Given the description of an element on the screen output the (x, y) to click on. 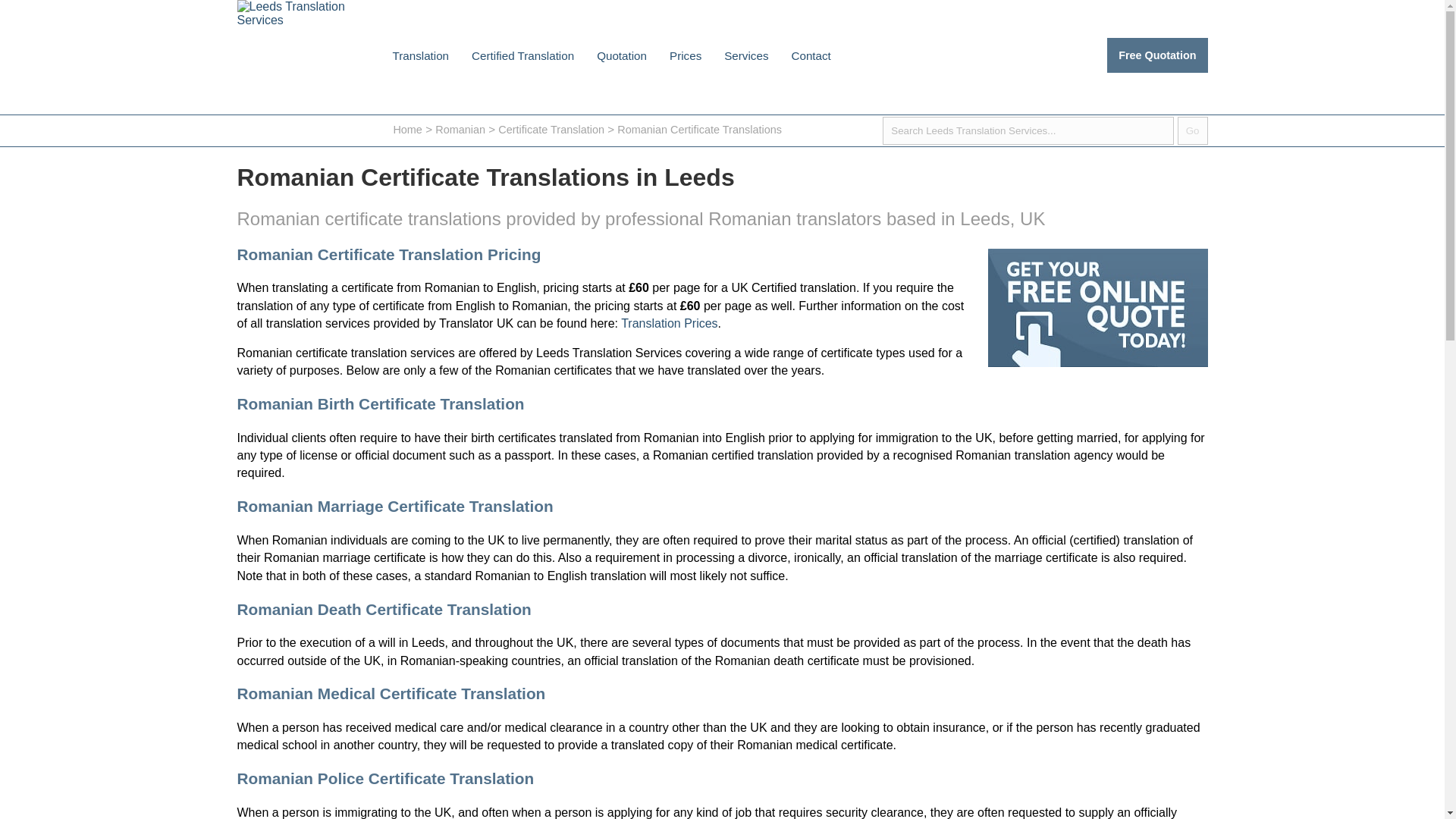
Go (1192, 130)
Translation Services (745, 55)
Certificate Translation (550, 129)
Translation Types (420, 55)
Contact Leeds Translation Services (809, 55)
Romanian Certificate Translations (699, 129)
Translation Prices (685, 55)
Quotation (621, 55)
Romanian (459, 129)
Services (745, 55)
Go (1192, 130)
Certified Translation (522, 55)
Certified Translation (522, 55)
Prices (685, 55)
Translation Prices (669, 323)
